Given the description of an element on the screen output the (x, y) to click on. 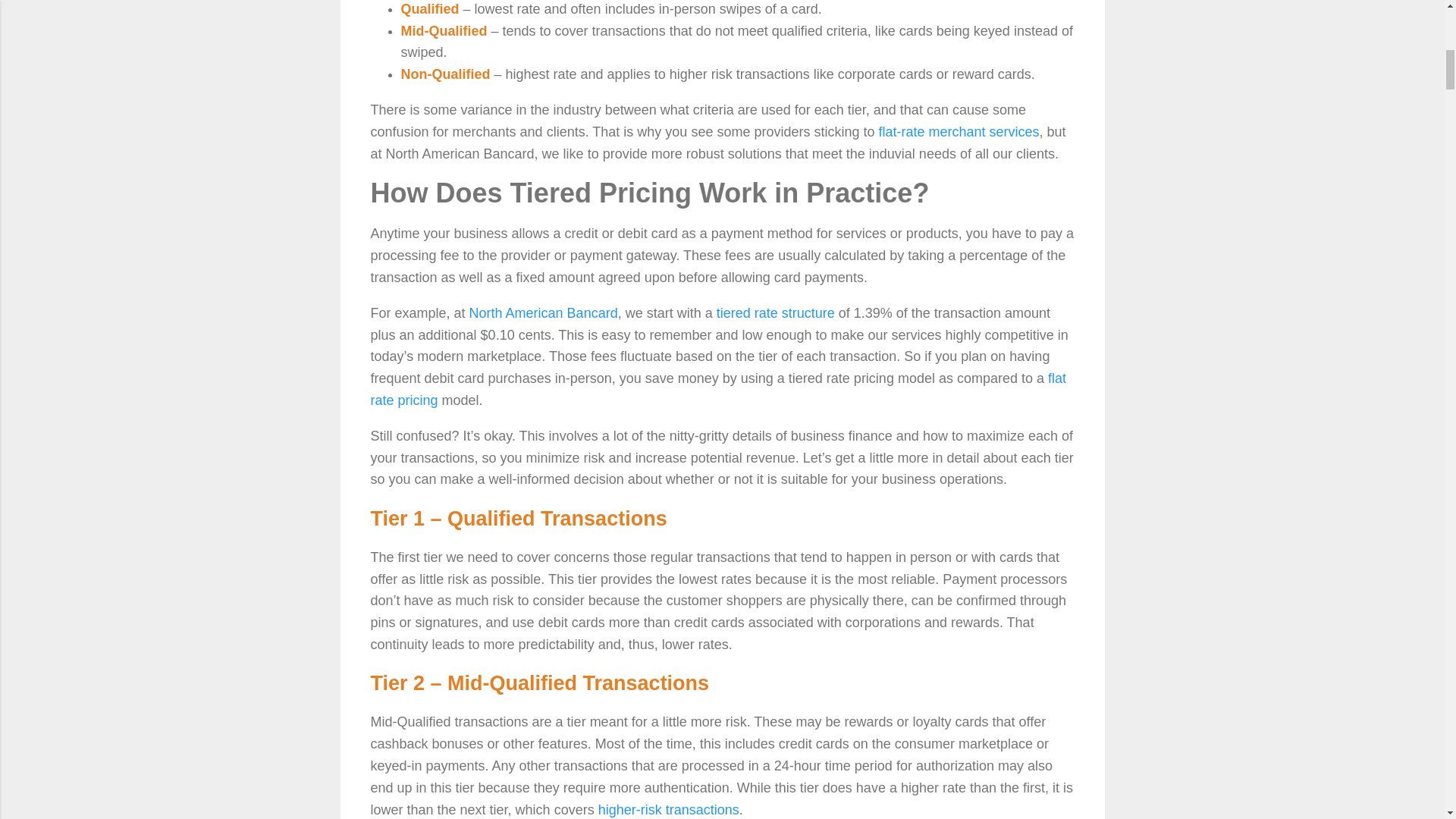
higher-risk transactions (668, 809)
flat rate pricing (717, 389)
North American Bancard (542, 313)
flat-rate merchant services (958, 131)
tiered rate structure (775, 313)
